Given the description of an element on the screen output the (x, y) to click on. 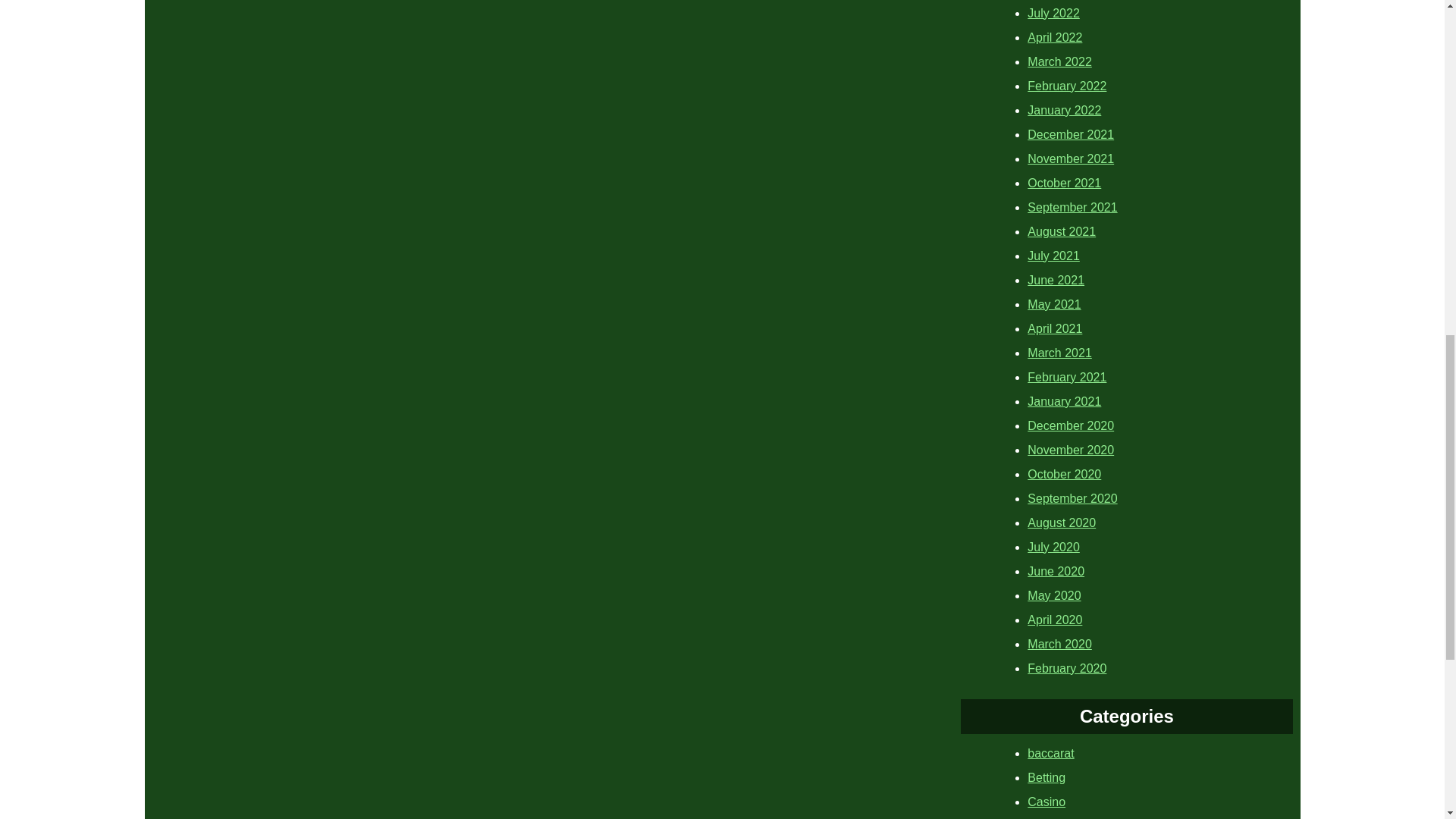
March 2022 (1059, 60)
July 2021 (1053, 254)
April 2021 (1054, 327)
April 2022 (1054, 36)
December 2021 (1070, 133)
June 2021 (1055, 278)
November 2021 (1070, 157)
September 2021 (1071, 205)
July 2022 (1053, 11)
January 2022 (1063, 109)
